Given the description of an element on the screen output the (x, y) to click on. 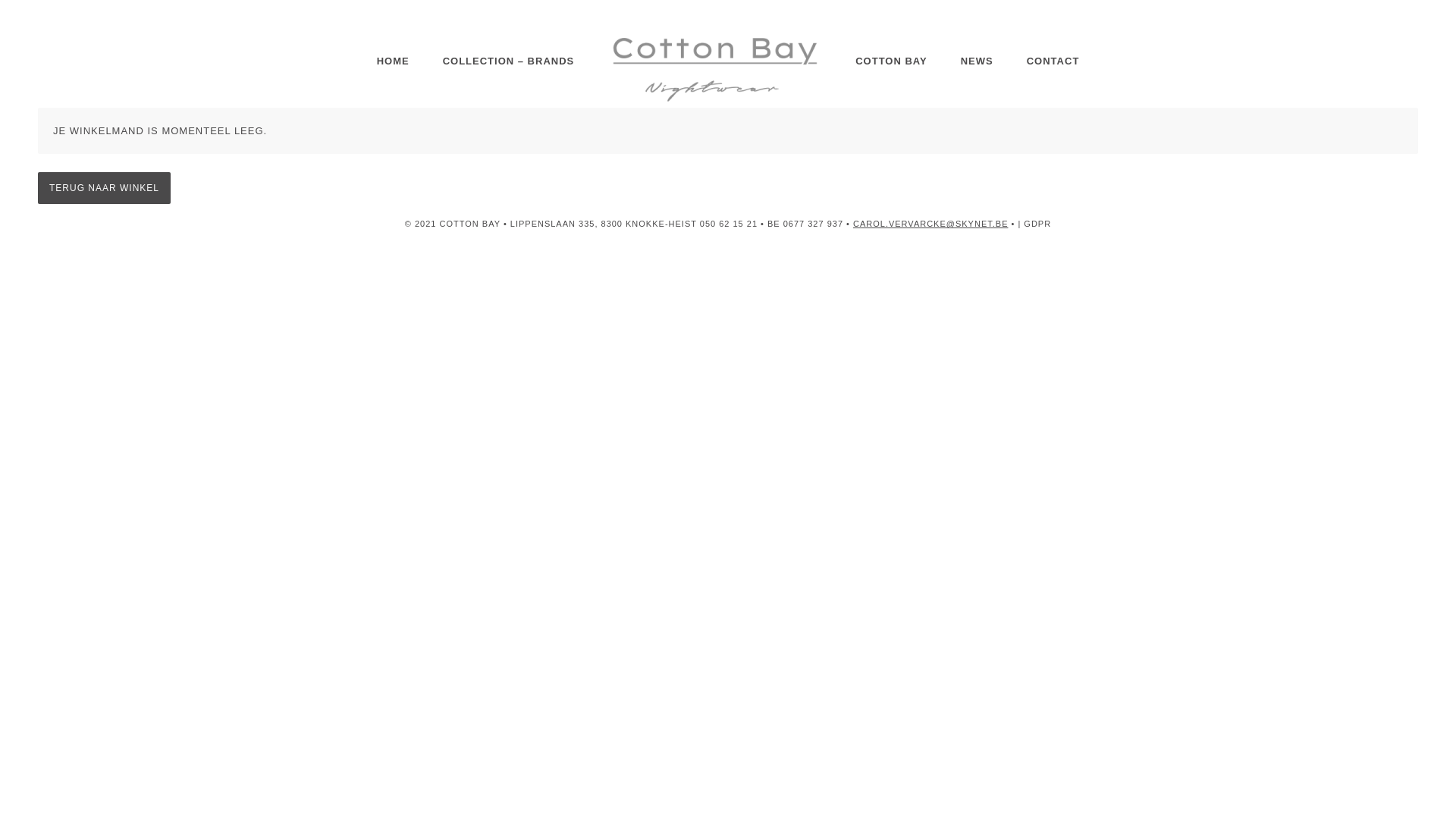
TERUG NAAR WINKEL Element type: text (103, 187)
HOME Element type: text (393, 61)
COTTON BAY Element type: text (891, 61)
CAROL.VERVARCKE@SKYNET.BE Element type: text (930, 223)
CONTACT Element type: text (1053, 61)
NEWS Element type: text (977, 61)
GDPR Element type: text (1037, 223)
